Given the description of an element on the screen output the (x, y) to click on. 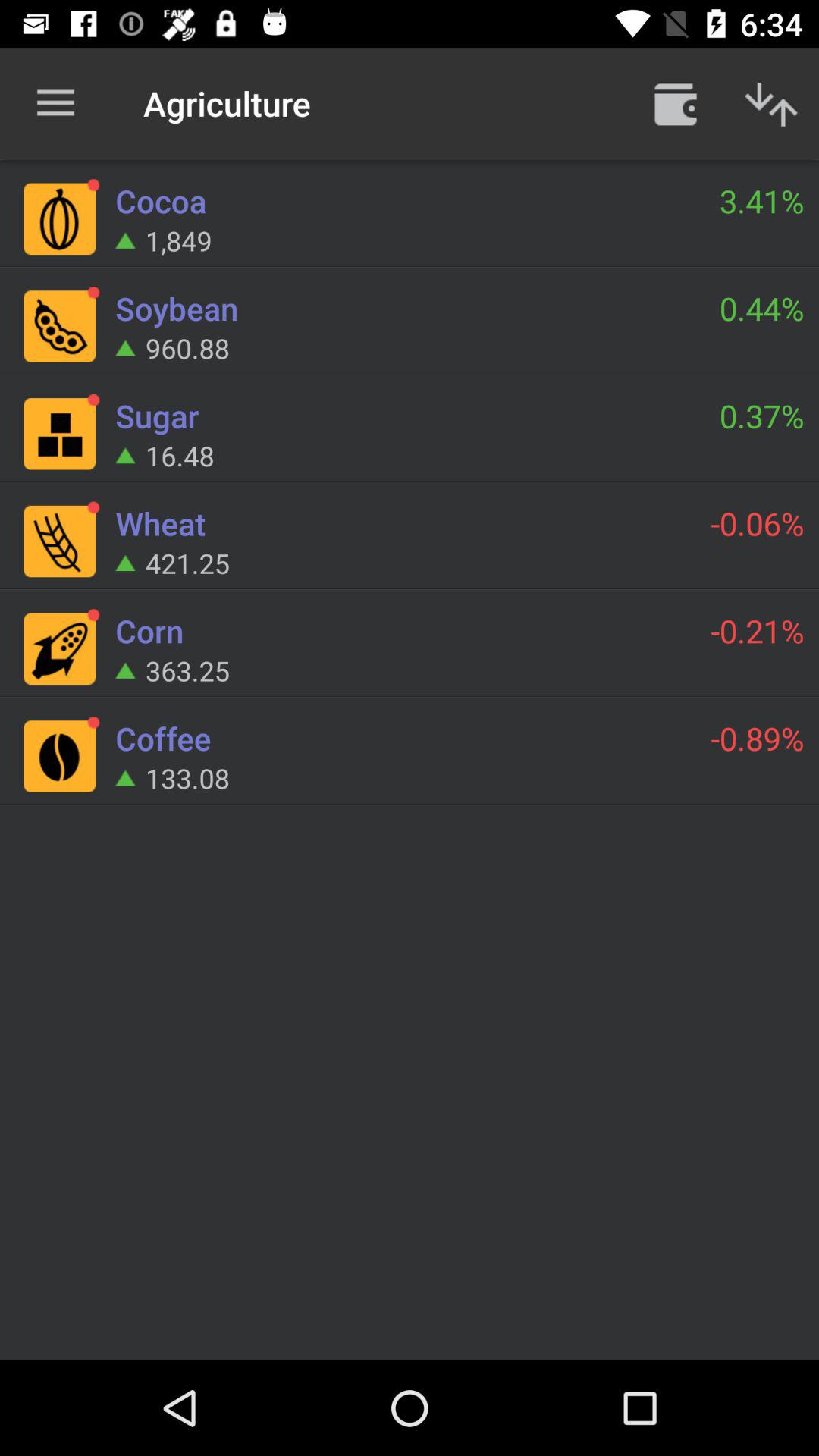
delete option (675, 103)
